Given the description of an element on the screen output the (x, y) to click on. 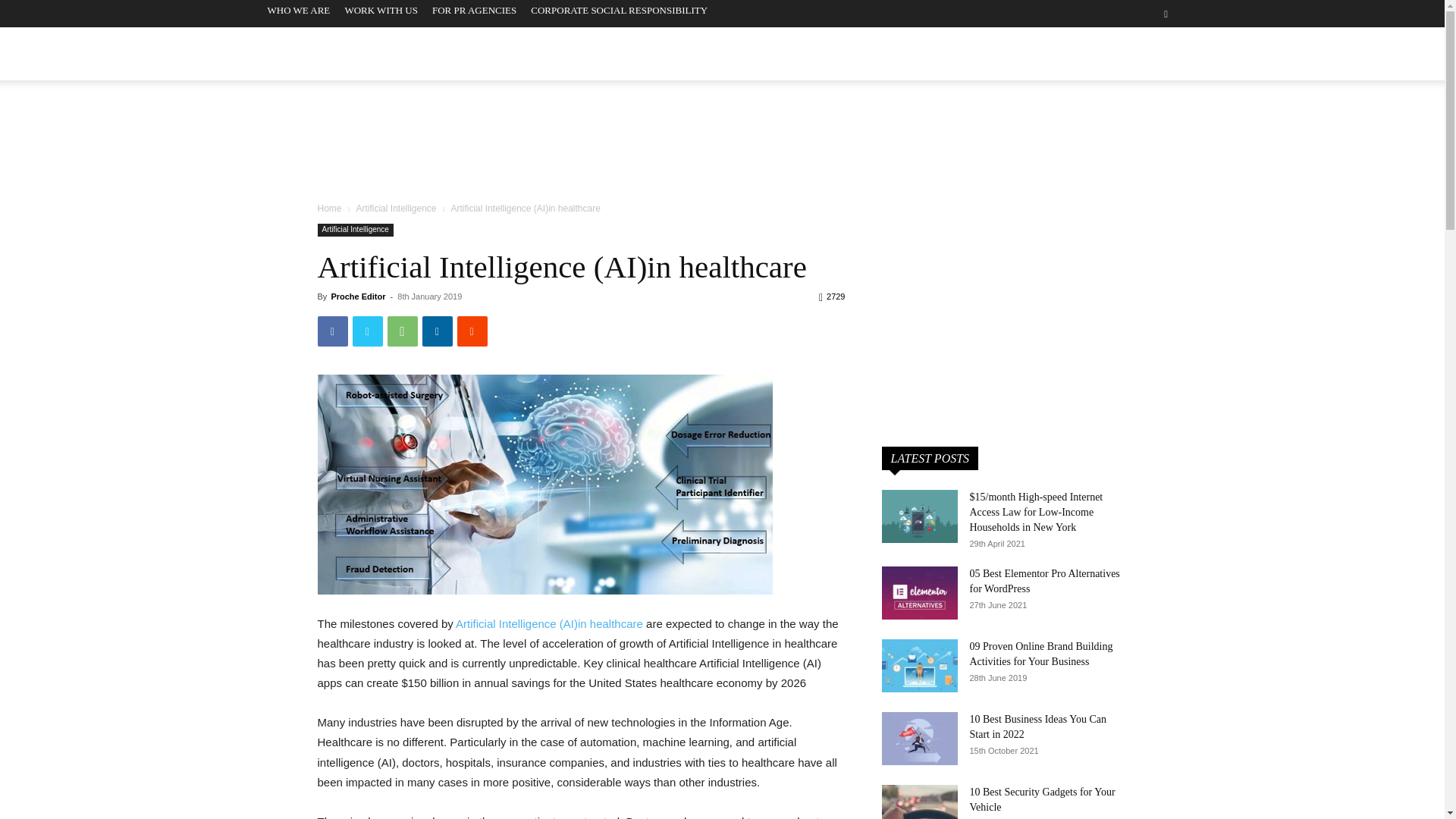
WhatsApp (401, 331)
WHO WE ARE (298, 9)
CORPORATE SOCIAL RESPONSIBILITY (619, 9)
Linkedin (436, 331)
Facebook (332, 331)
WORK WITH US (380, 9)
Twitter (366, 331)
BUSINESS (675, 53)
Search (1134, 70)
Linkedin (1139, 57)
View all posts in Artificial Intelligence (395, 208)
Facebook (1113, 57)
ReddIt (471, 331)
Proche (357, 57)
